Given the description of an element on the screen output the (x, y) to click on. 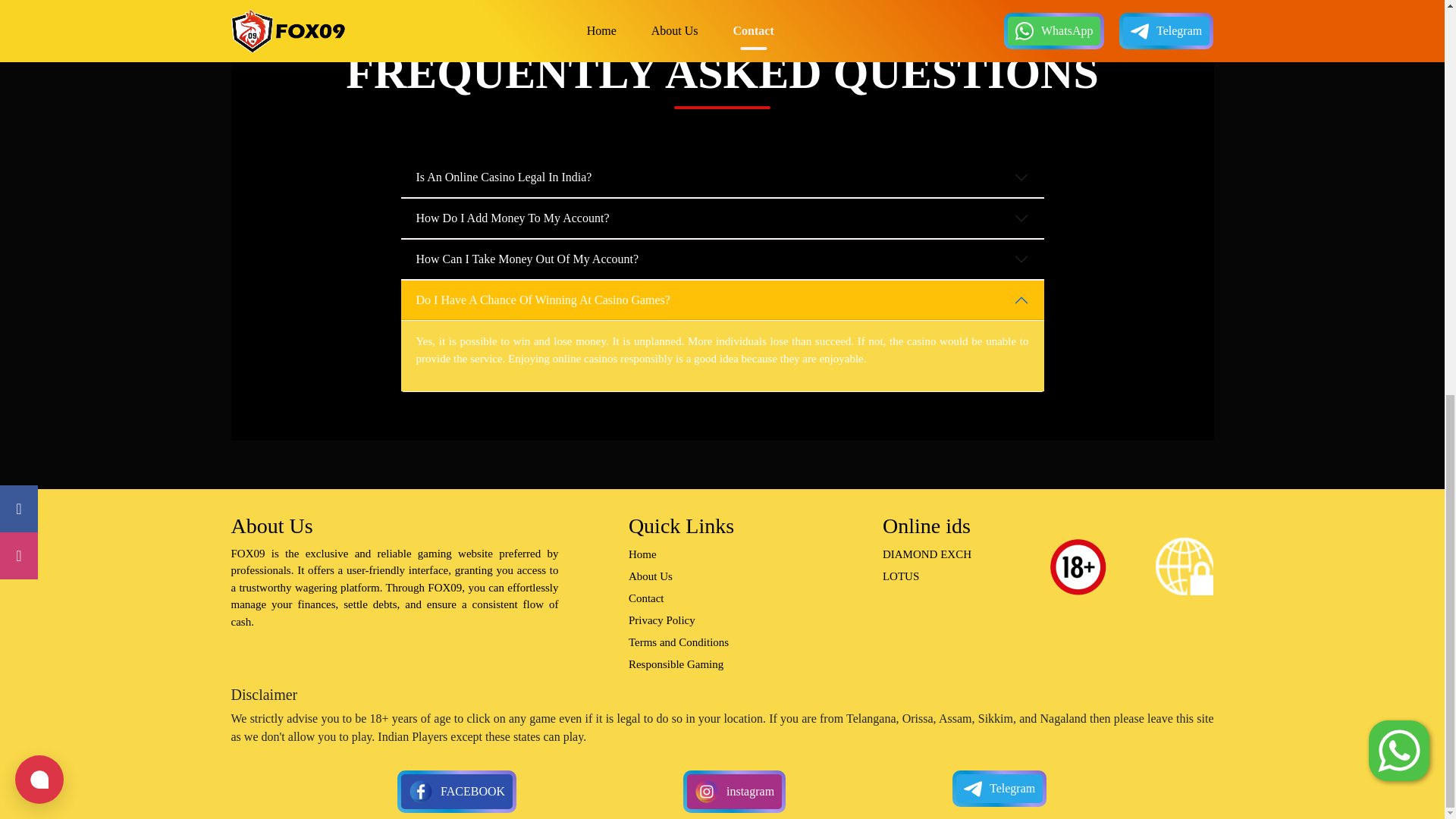
About Us (650, 576)
LOTUS (900, 576)
Responsible Gaming (675, 664)
Contact (645, 598)
How Do I Add Money To My Account? (721, 219)
instagram (737, 35)
DIAMOND EXCH (926, 553)
Is An Online Casino Legal In India? (721, 178)
FACEBOOK (462, 36)
Terms and Conditions (678, 642)
